Given the description of an element on the screen output the (x, y) to click on. 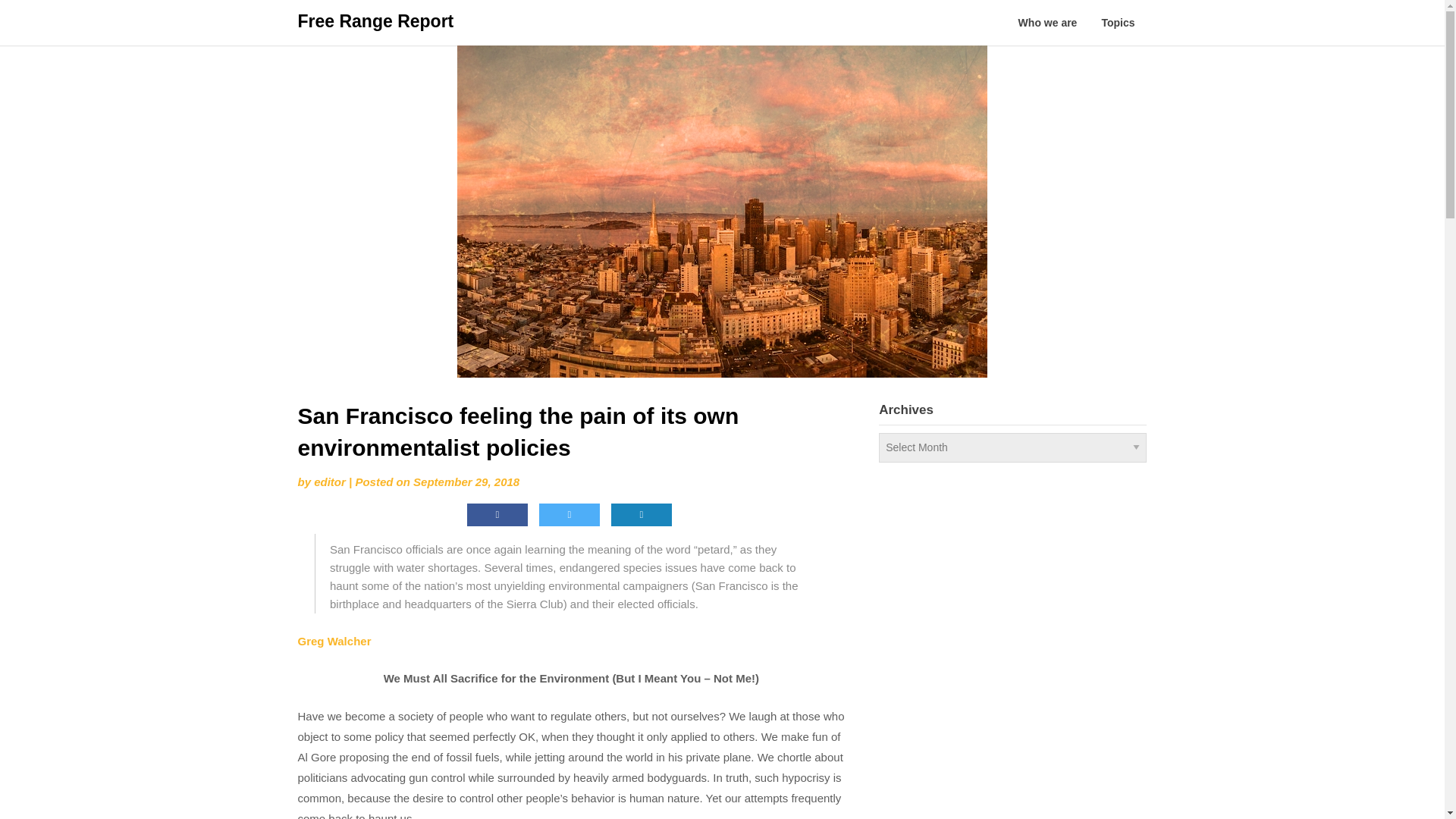
Free Range Report (374, 21)
September 29, 2018 (466, 481)
Greg Walcher (334, 640)
Who we are (1047, 22)
editor (330, 481)
Topics (1118, 22)
